Given the description of an element on the screen output the (x, y) to click on. 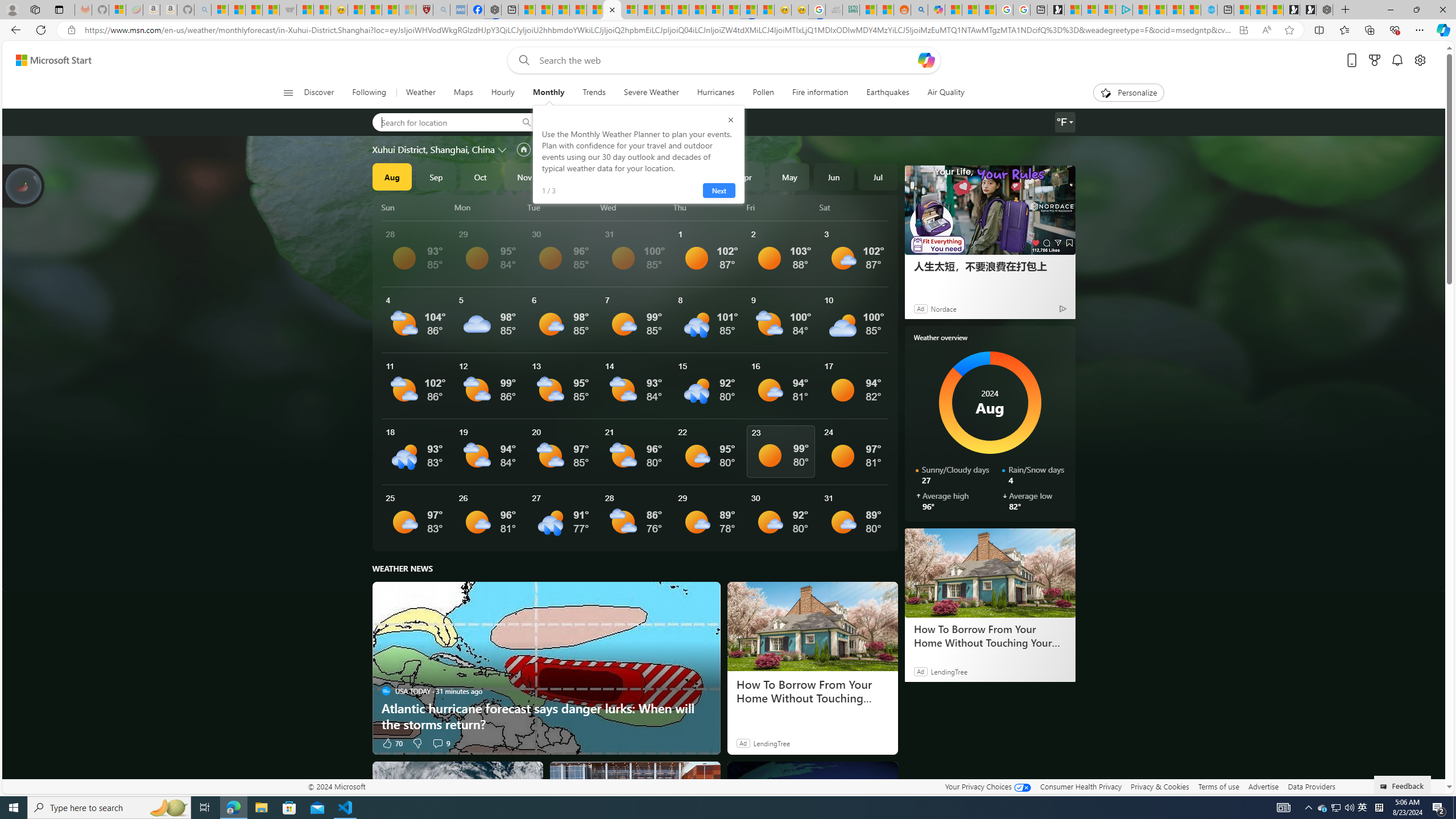
Apr (745, 176)
14 Common Myths Debunked By Scientific Facts (680, 9)
Feb (657, 176)
Open settings (1420, 60)
See More Details (853, 517)
Maps (462, 92)
Mar (700, 176)
